Given the description of an element on the screen output the (x, y) to click on. 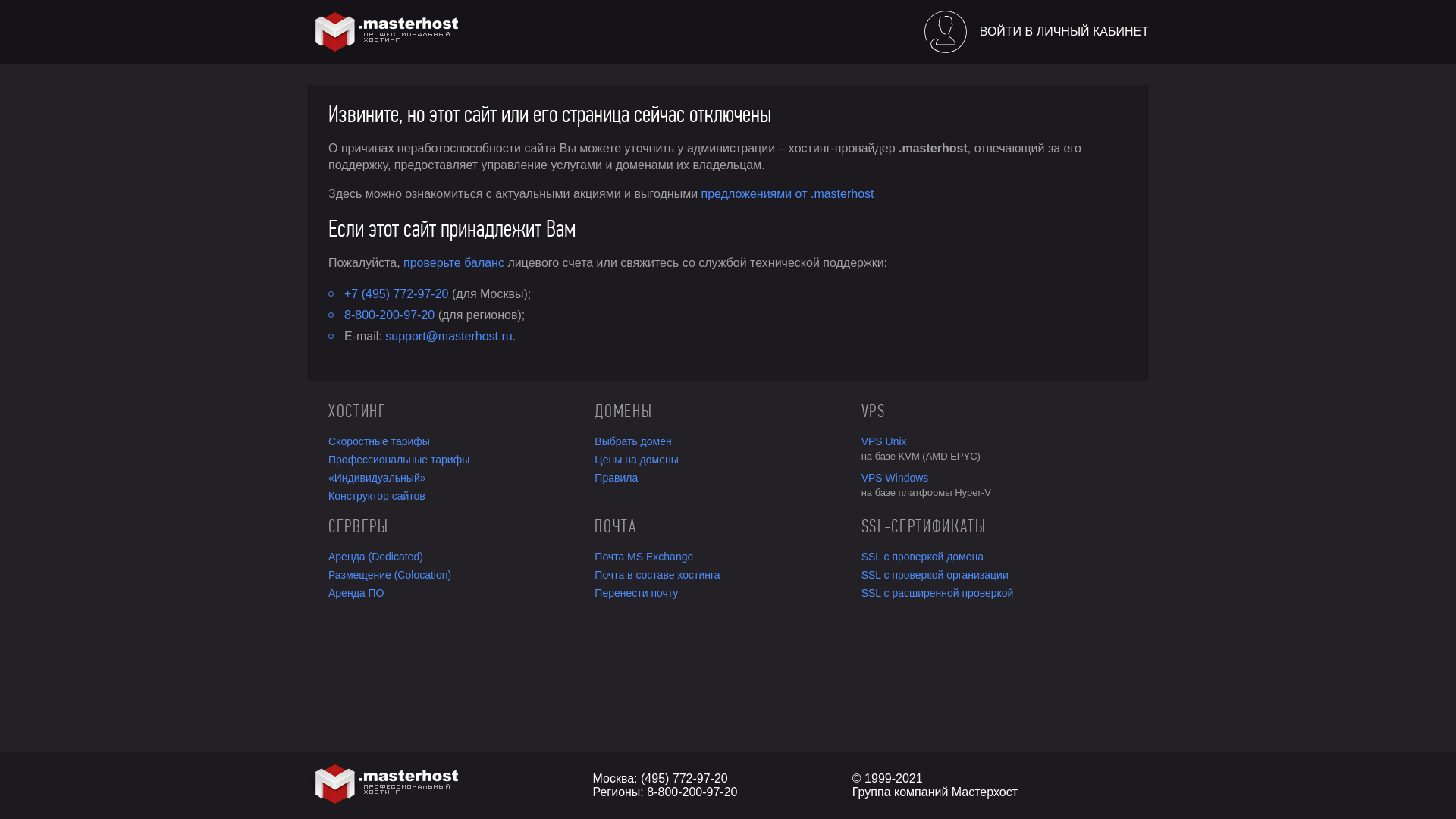
8-800-200-97-20 Element type: text (389, 314)
support@masterhost.ru Element type: text (448, 335)
VPS Element type: text (994, 410)
VPS Unix Element type: text (994, 441)
VPS Windows Element type: text (994, 477)
+7 (495) 772-97-20 Element type: text (396, 293)
